Given the description of an element on the screen output the (x, y) to click on. 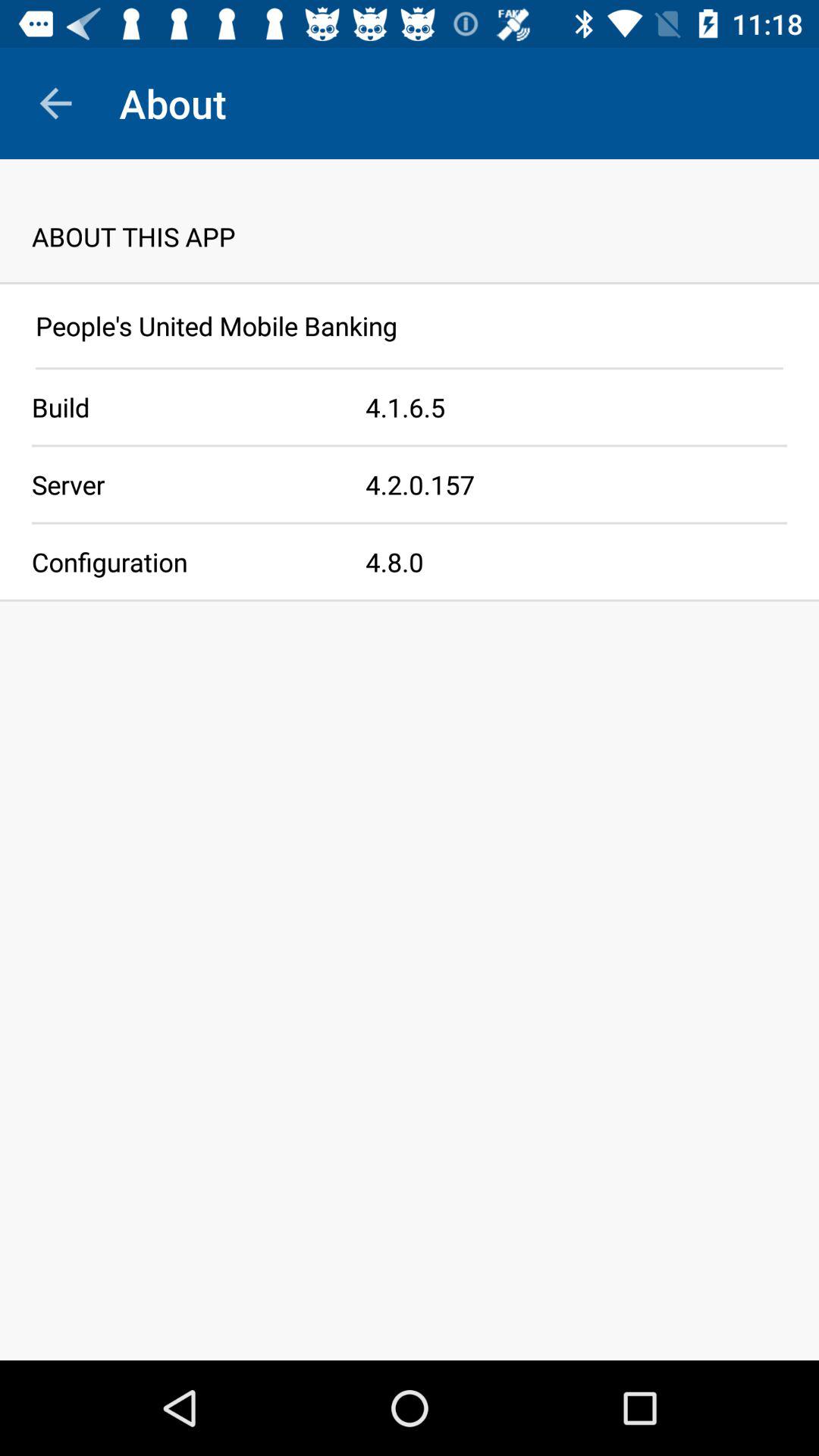
turn off the about this app (409, 220)
